Given the description of an element on the screen output the (x, y) to click on. 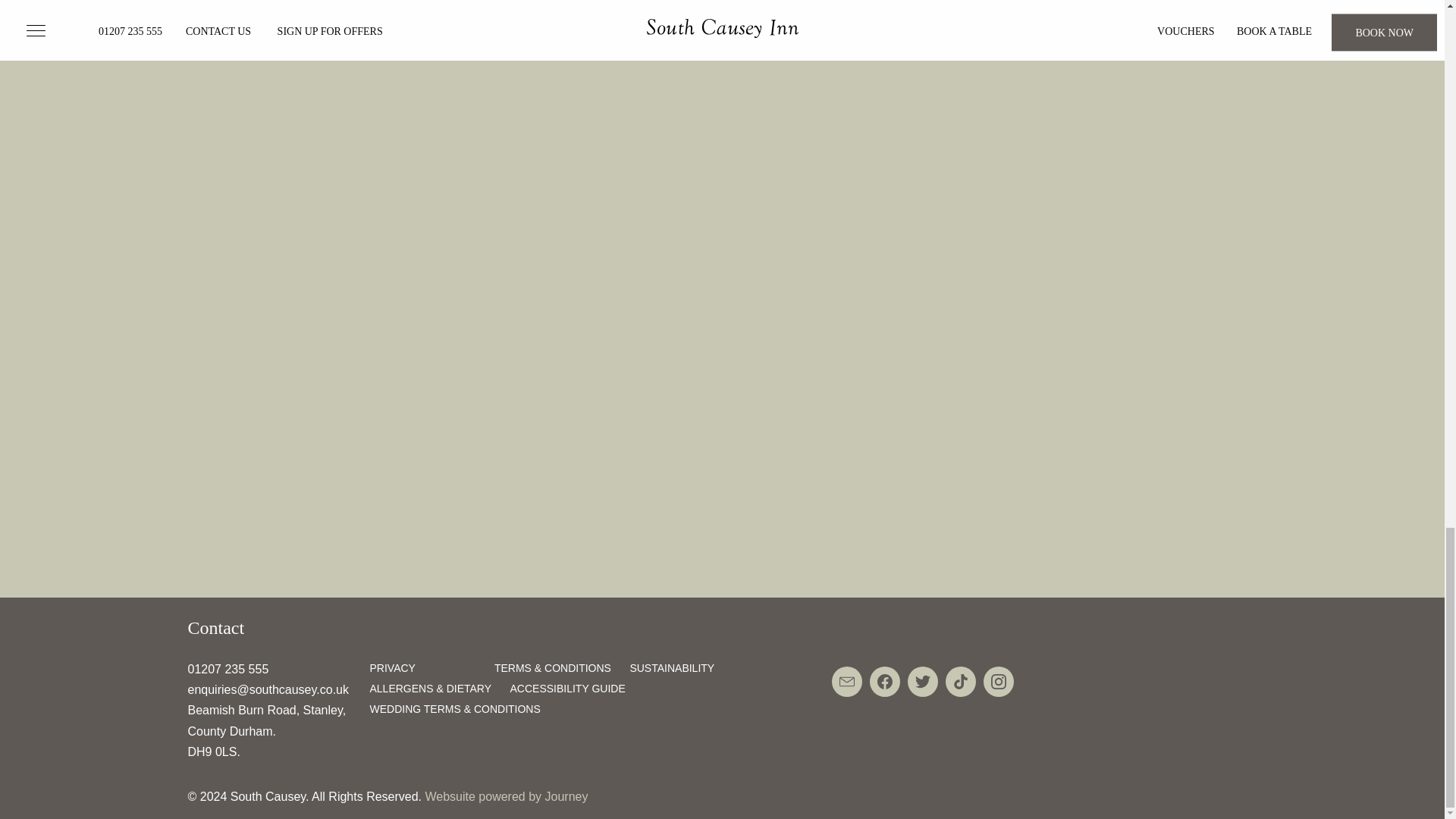
Email South Causey (846, 681)
Find South Causey on Twitter (922, 681)
Find South Causey on Instagram (998, 681)
Find South Causey on Facebook (884, 681)
PRIVACY (391, 667)
SUSTAINABILITY (671, 667)
Find South Causey on Tiktok (959, 681)
